Given the description of an element on the screen output the (x, y) to click on. 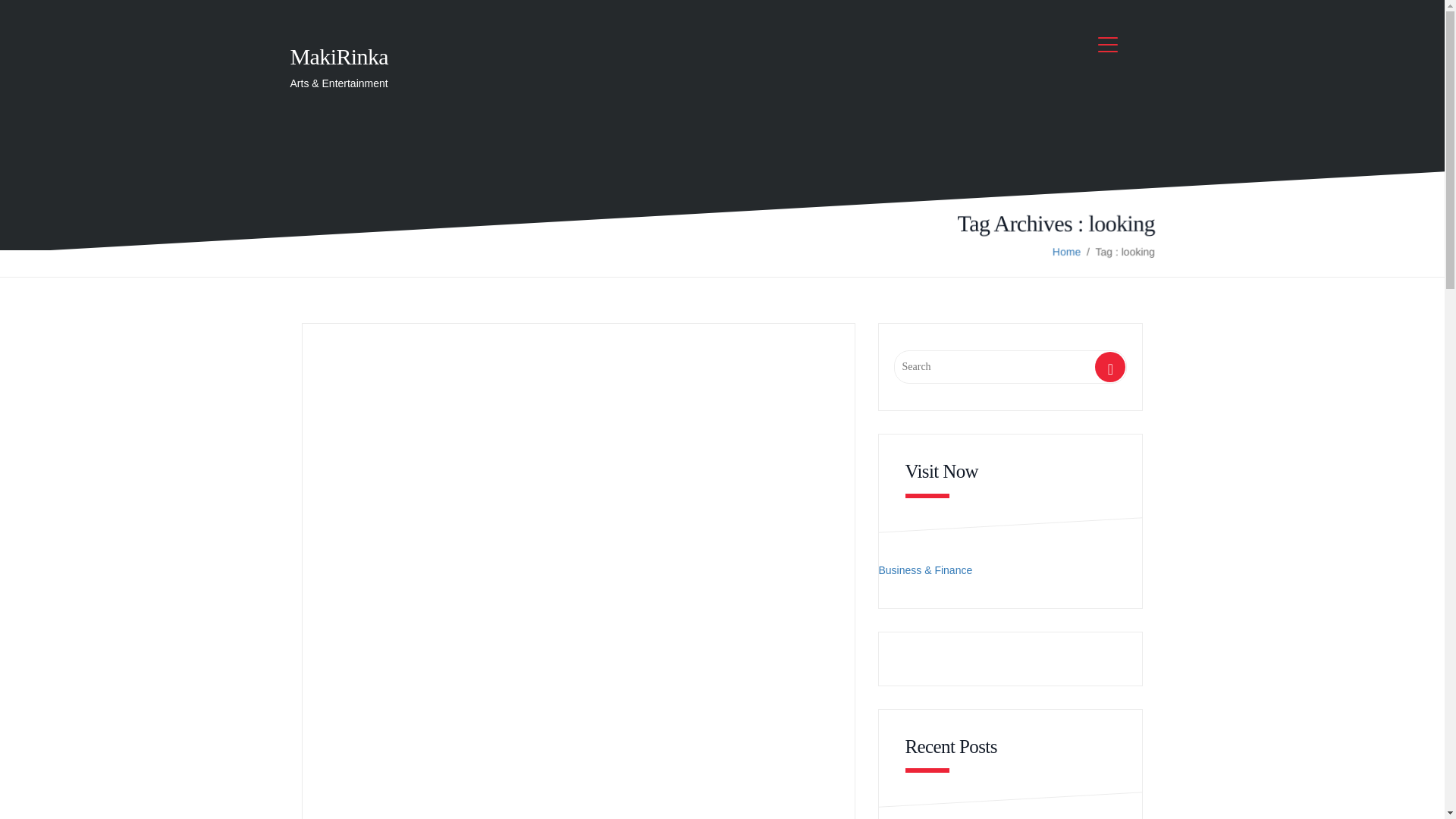
Home (1065, 251)
MakiRinka (338, 56)
MakiRinka (338, 56)
submit (1109, 370)
submit (1109, 370)
